Given the description of an element on the screen output the (x, y) to click on. 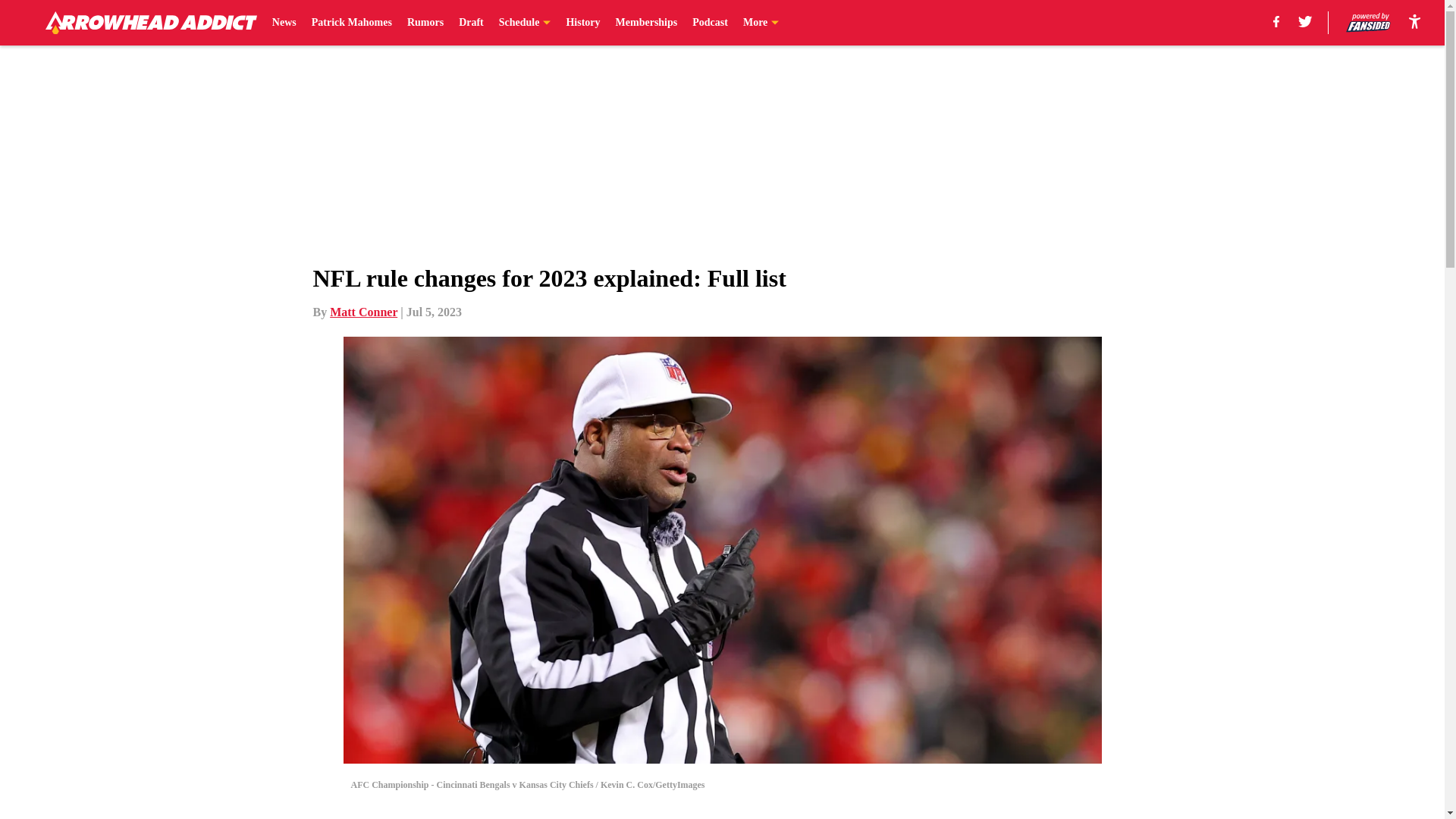
Memberships (646, 22)
News (284, 22)
Patrick Mahomes (351, 22)
Podcast (710, 22)
Rumors (425, 22)
Matt Conner (363, 311)
Draft (470, 22)
History (582, 22)
